Given the description of an element on the screen output the (x, y) to click on. 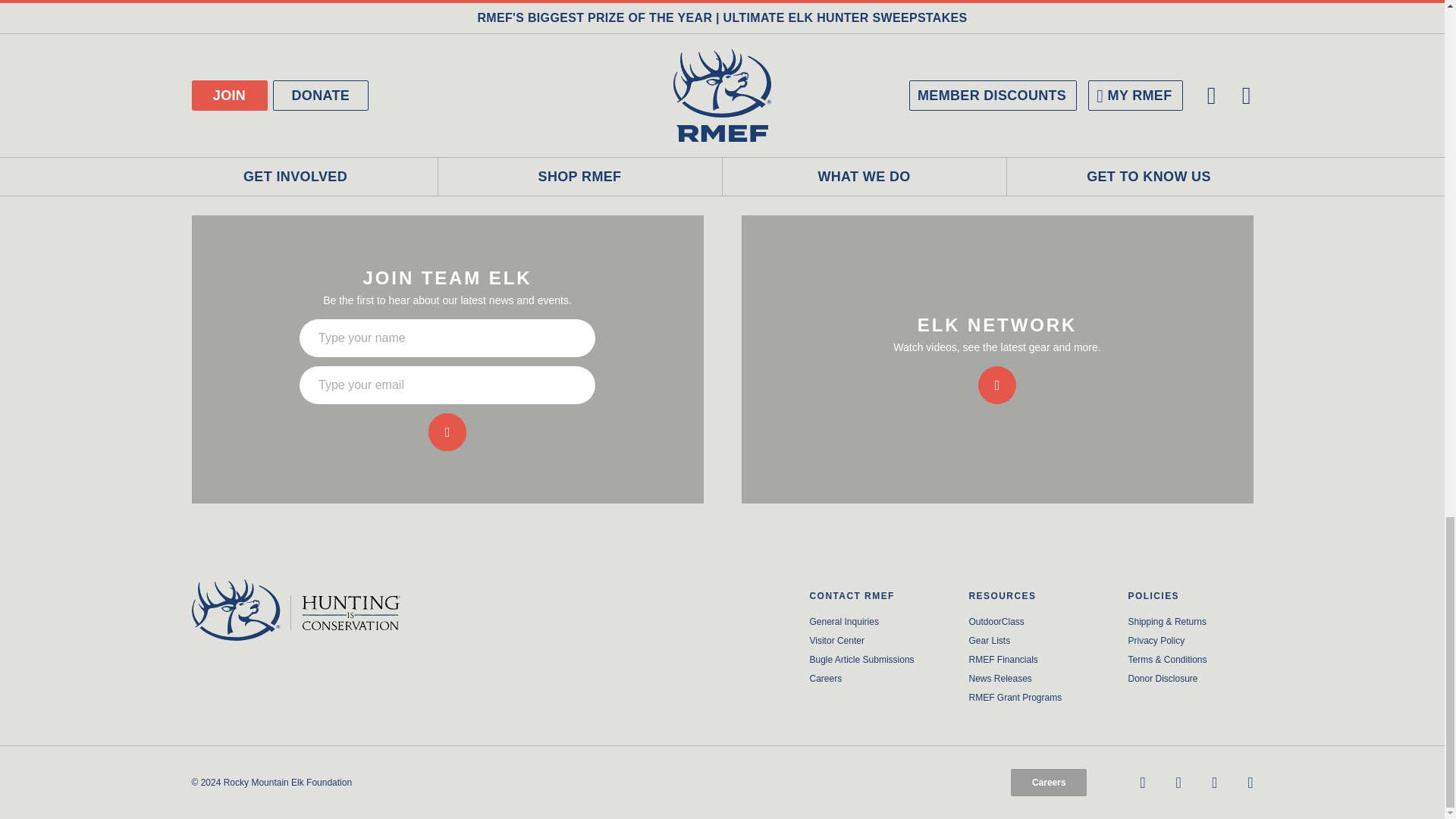
Home (314, 609)
